Given the description of an element on the screen output the (x, y) to click on. 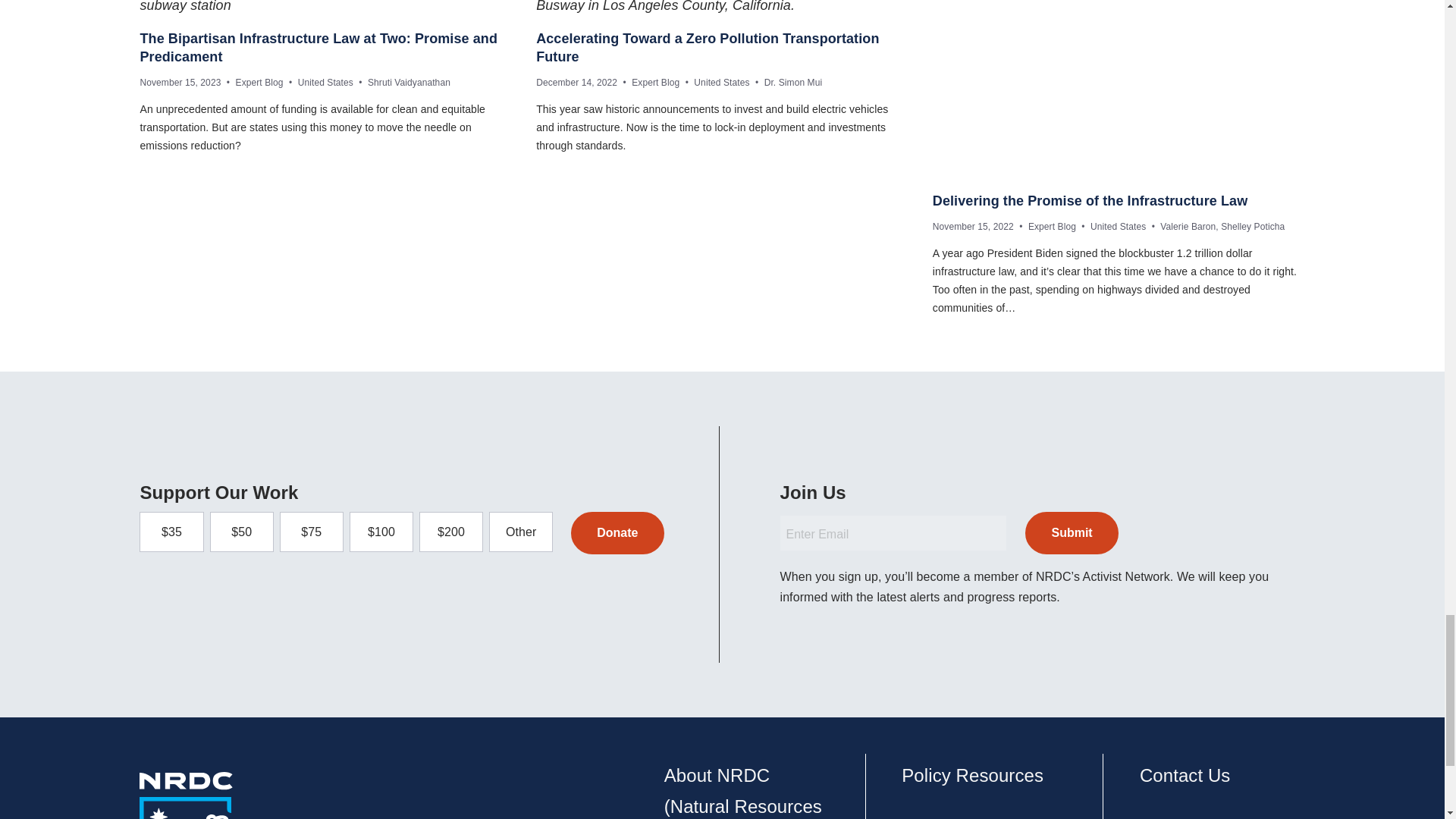
NRDC Logo (187, 795)
